Given the description of an element on the screen output the (x, y) to click on. 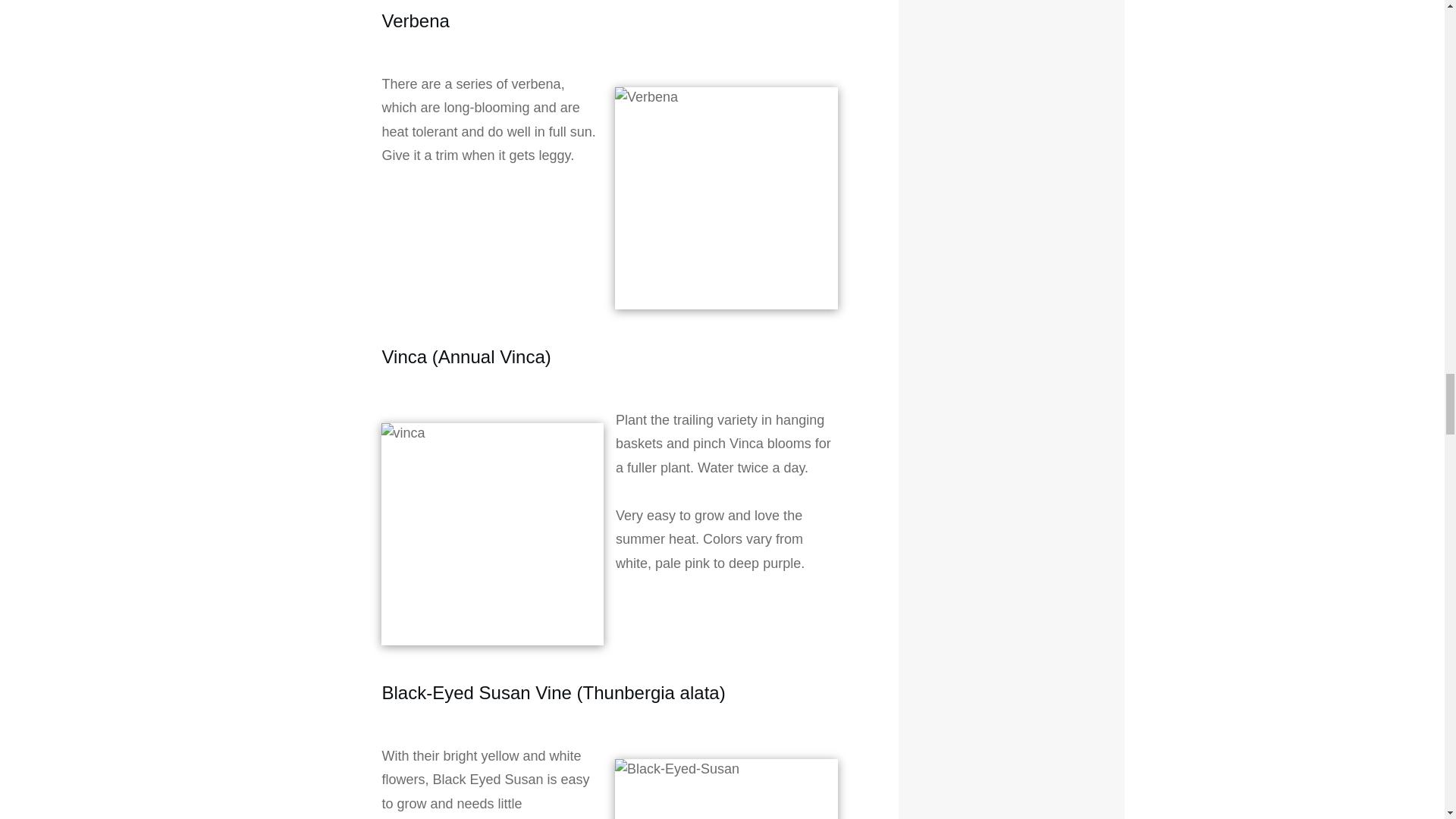
Black-Eyed-Susan (726, 789)
Verbena (726, 198)
vinca (492, 534)
